Given the description of an element on the screen output the (x, y) to click on. 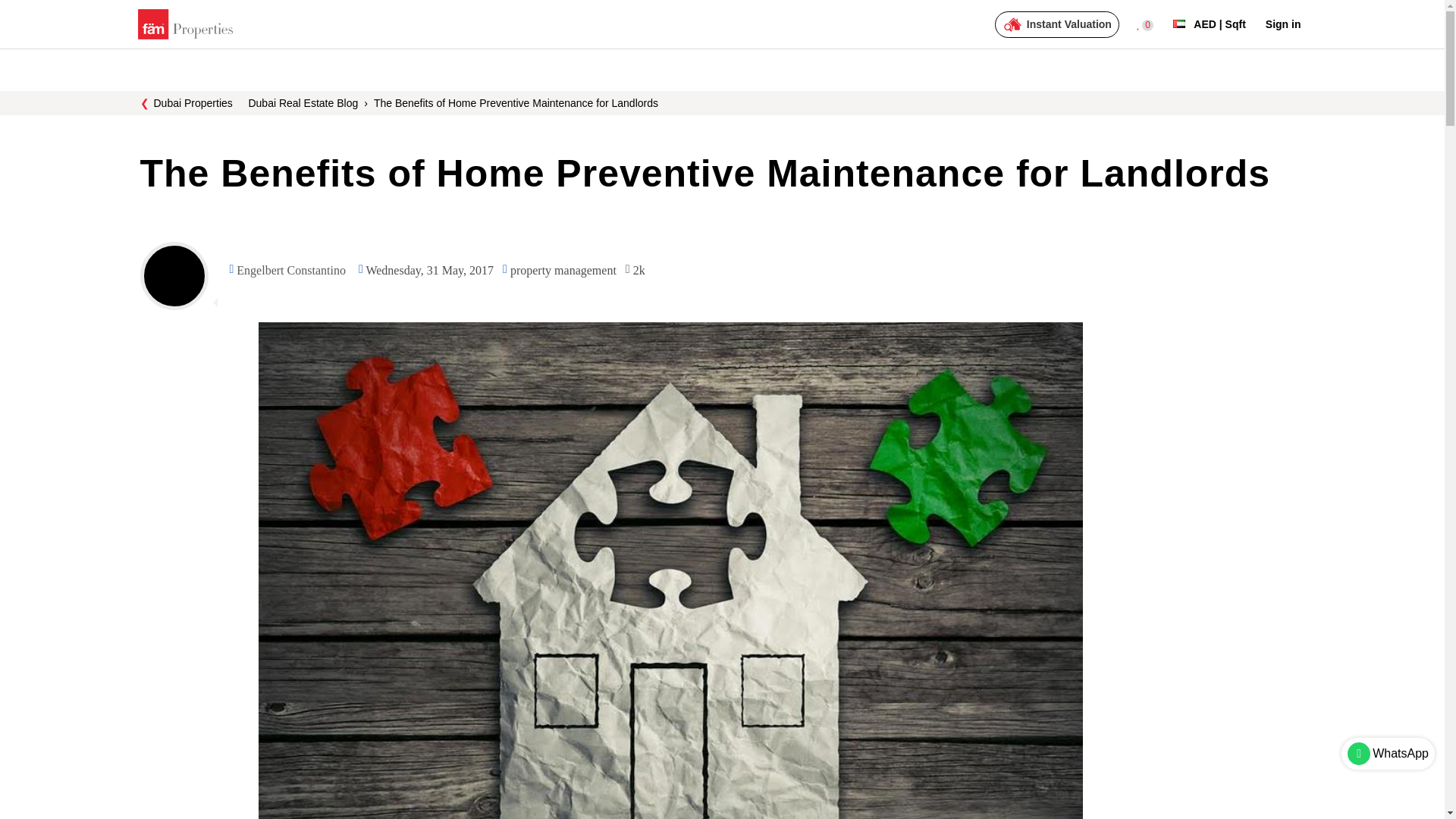
Instant Valuation (1056, 24)
Valuation (1056, 24)
0 (1144, 24)
Sign in (1283, 23)
